Given the description of an element on the screen output the (x, y) to click on. 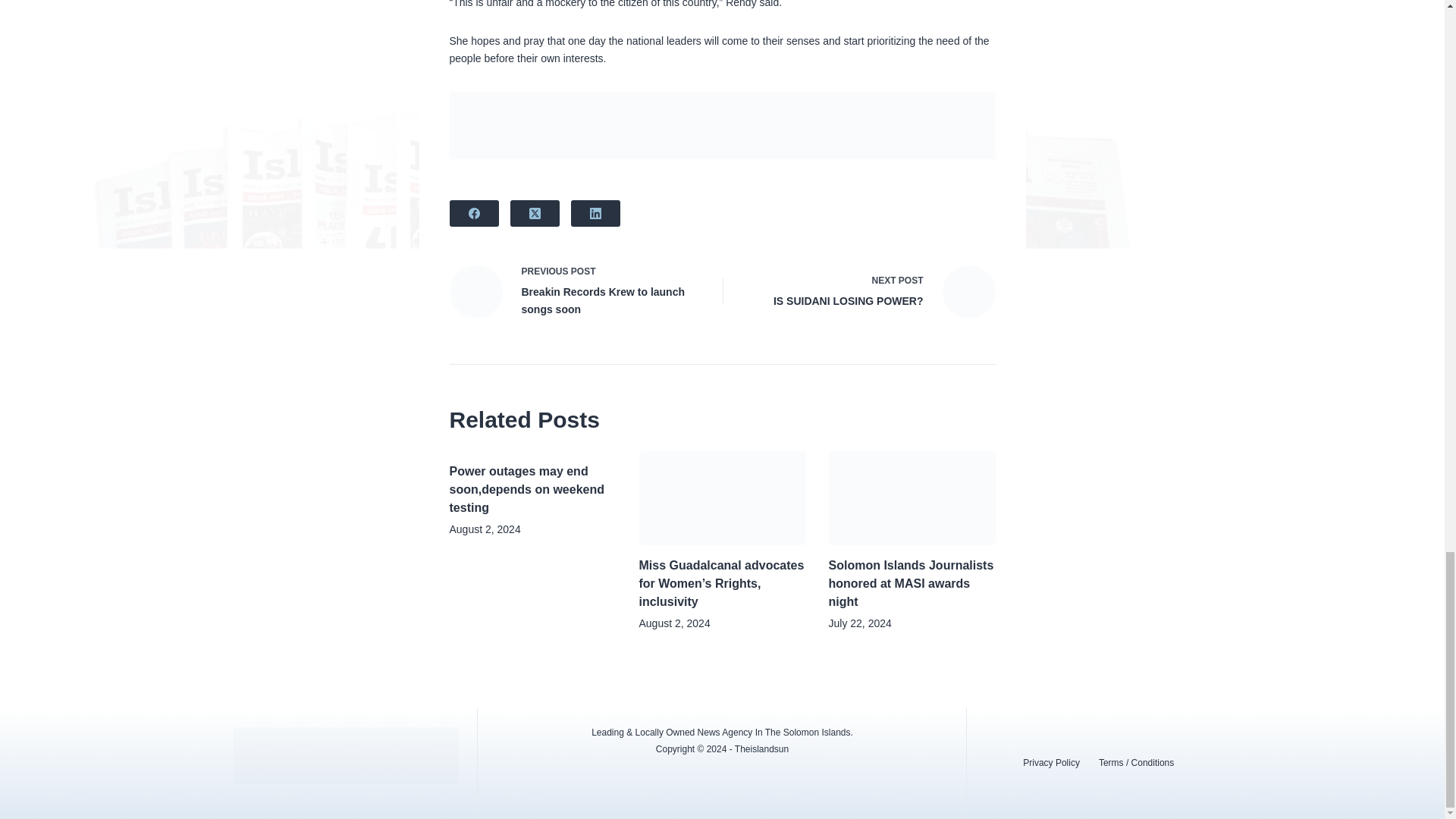
Power outages may end soon,depends on weekend testing (869, 291)
